Given the description of an element on the screen output the (x, y) to click on. 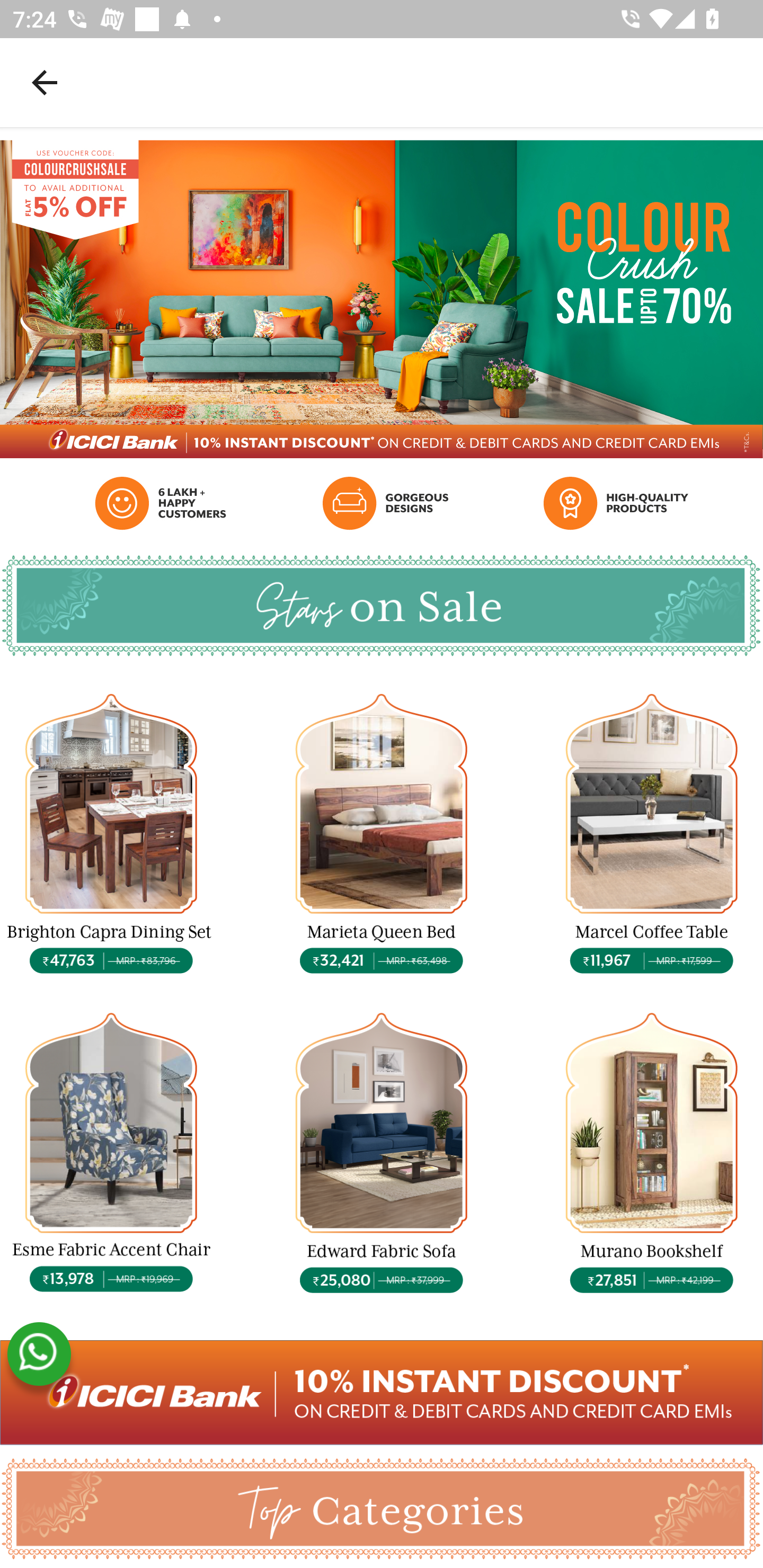
Navigate up (44, 82)
Stars on sale-1 (111, 834)
Stars on sale-2 (381, 834)
Stars on sale-3 (651, 834)
Stars on sale-4 (111, 1154)
Stars on sale-6 (651, 1154)
whatsapp (38, 1353)
colour-crush-sale (381, 1392)
